Given the description of an element on the screen output the (x, y) to click on. 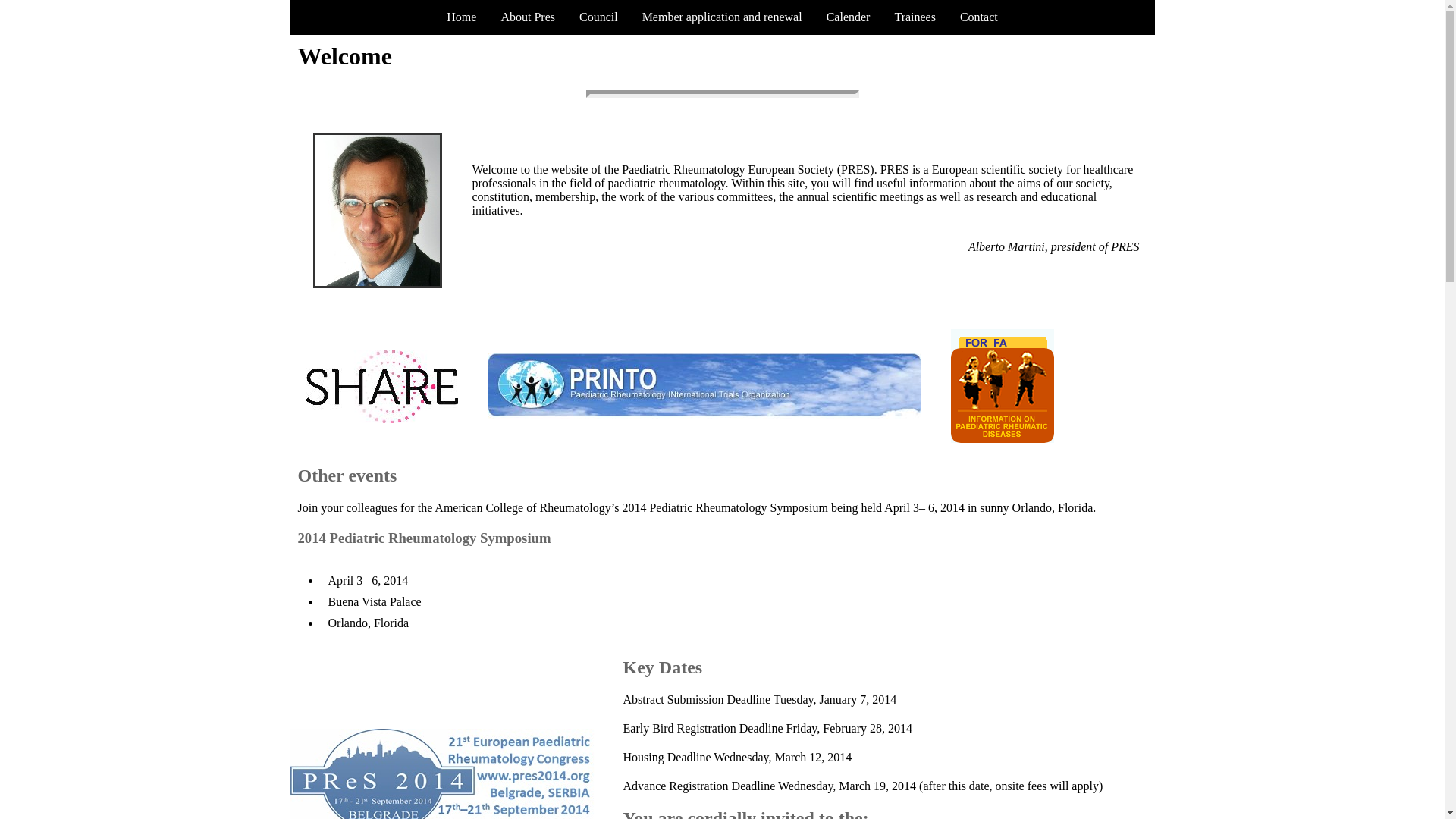
Trainees (914, 17)
About Pres (527, 17)
Contact (978, 17)
Member application and renewal (721, 17)
Council (598, 17)
Calender (847, 17)
Home (460, 17)
